Given the description of an element on the screen output the (x, y) to click on. 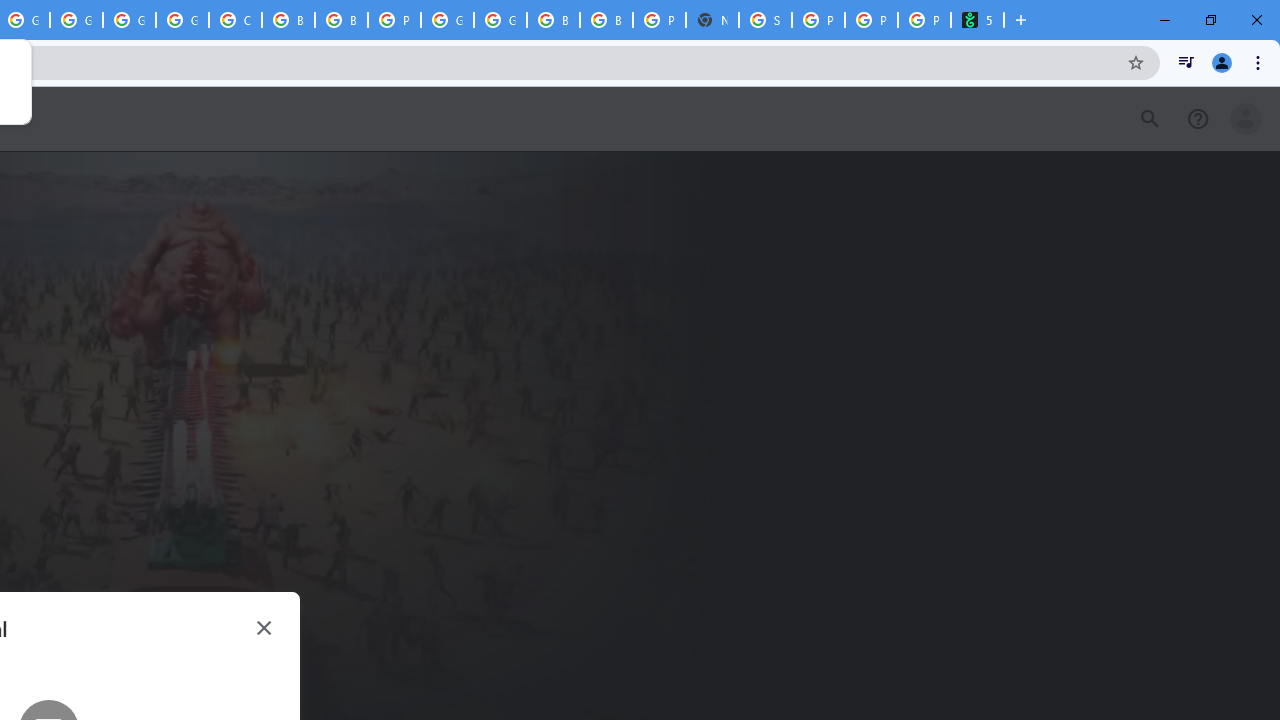
Sign in - Google Accounts (765, 20)
